Given the description of an element on the screen output the (x, y) to click on. 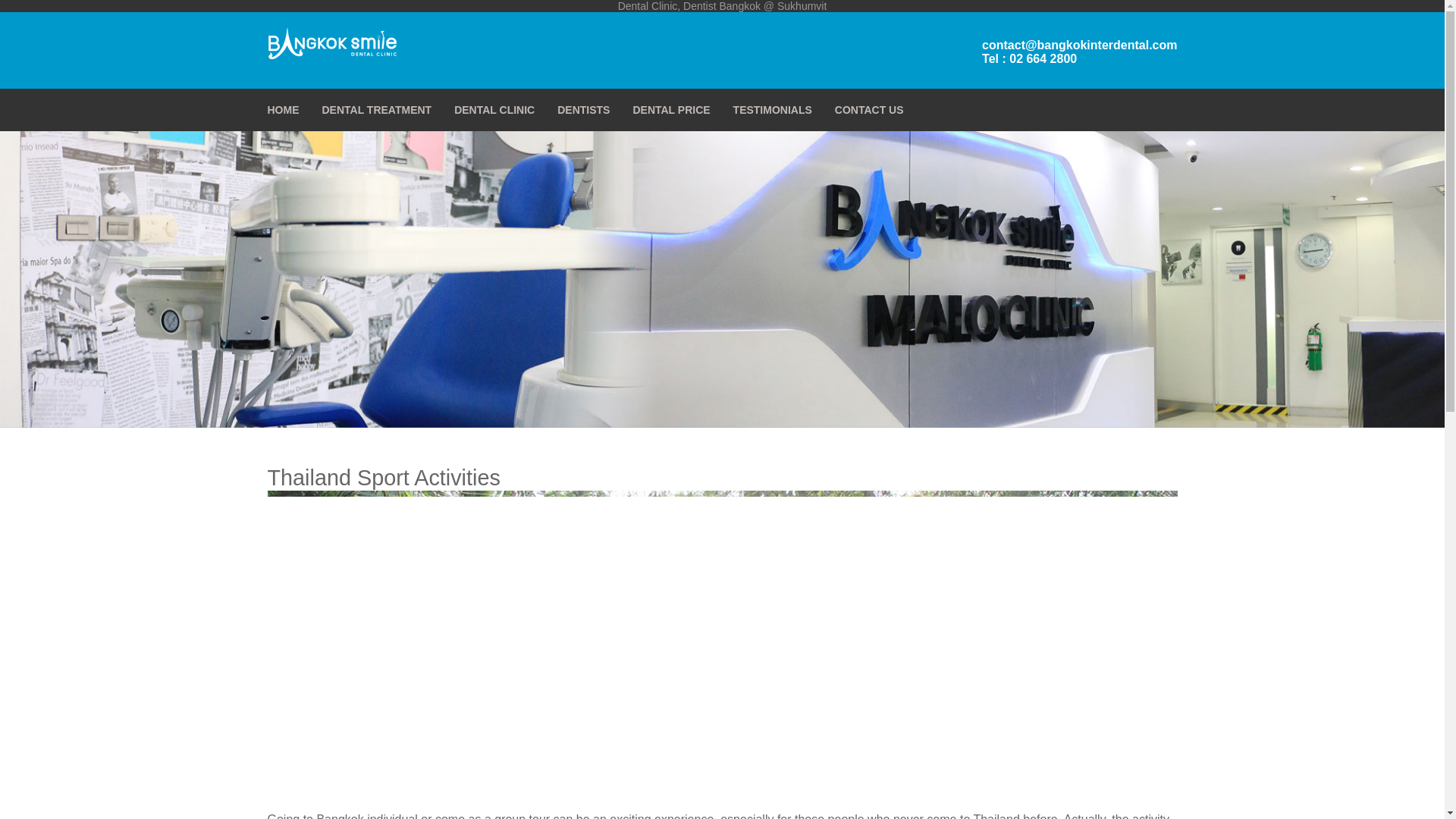
Testimonials (772, 109)
DENTAL CLINIC (494, 109)
contact (869, 109)
Dental Treatmen (375, 109)
Dentist Bangkok (721, 6)
TESTIMONIALS (772, 109)
Dentists (583, 109)
CONTACT US (869, 109)
DENTISTS (583, 109)
